Given the description of an element on the screen output the (x, y) to click on. 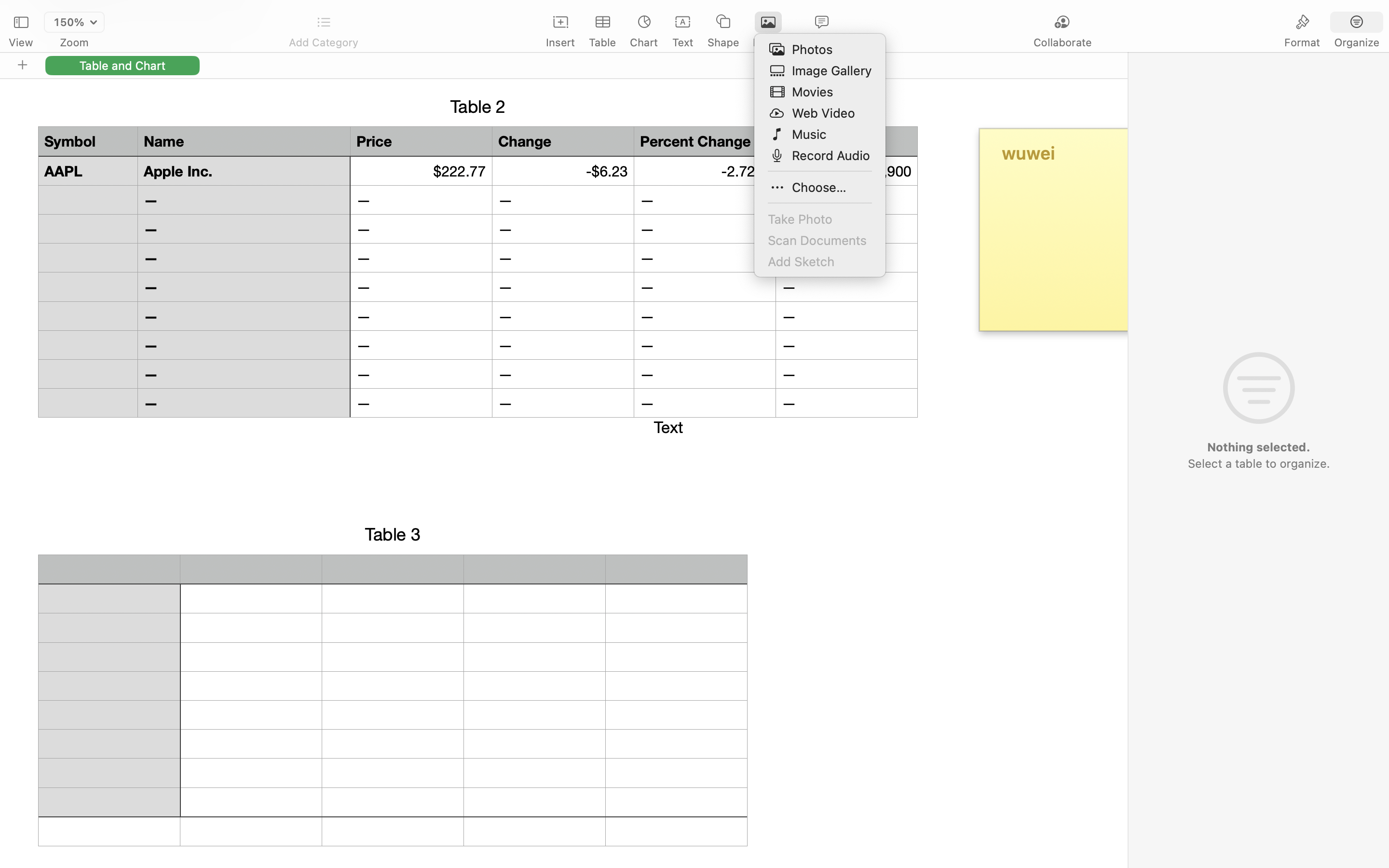
Select a table to organize. Element type: AXStaticText (1258, 463)
Nothing selected. Element type: AXStaticText (1257, 446)
Insert Element type: AXStaticText (560, 42)
View Element type: AXStaticText (20, 42)
